Given the description of an element on the screen output the (x, y) to click on. 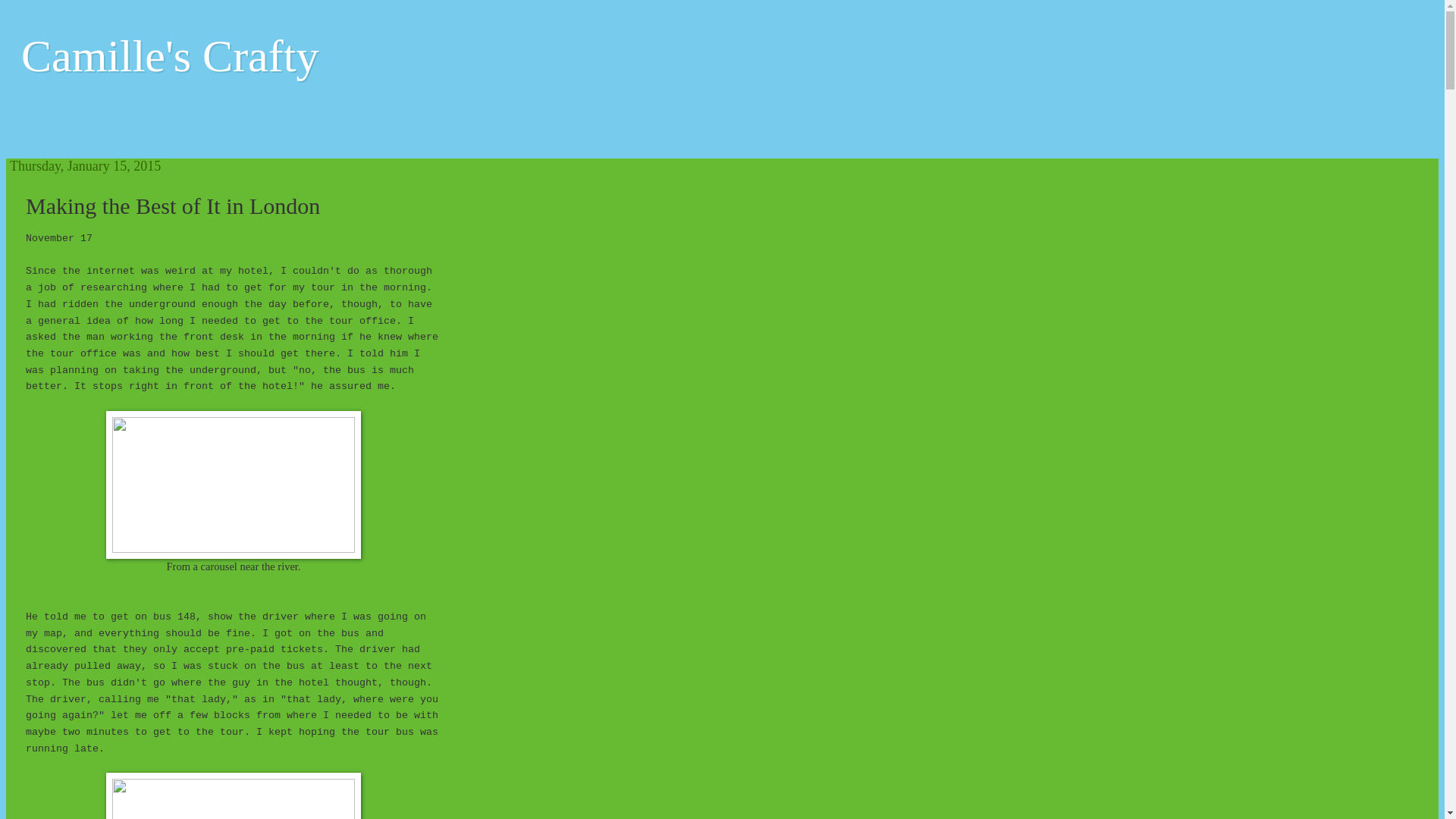
Camille's Crafty (169, 56)
